Given the description of an element on the screen output the (x, y) to click on. 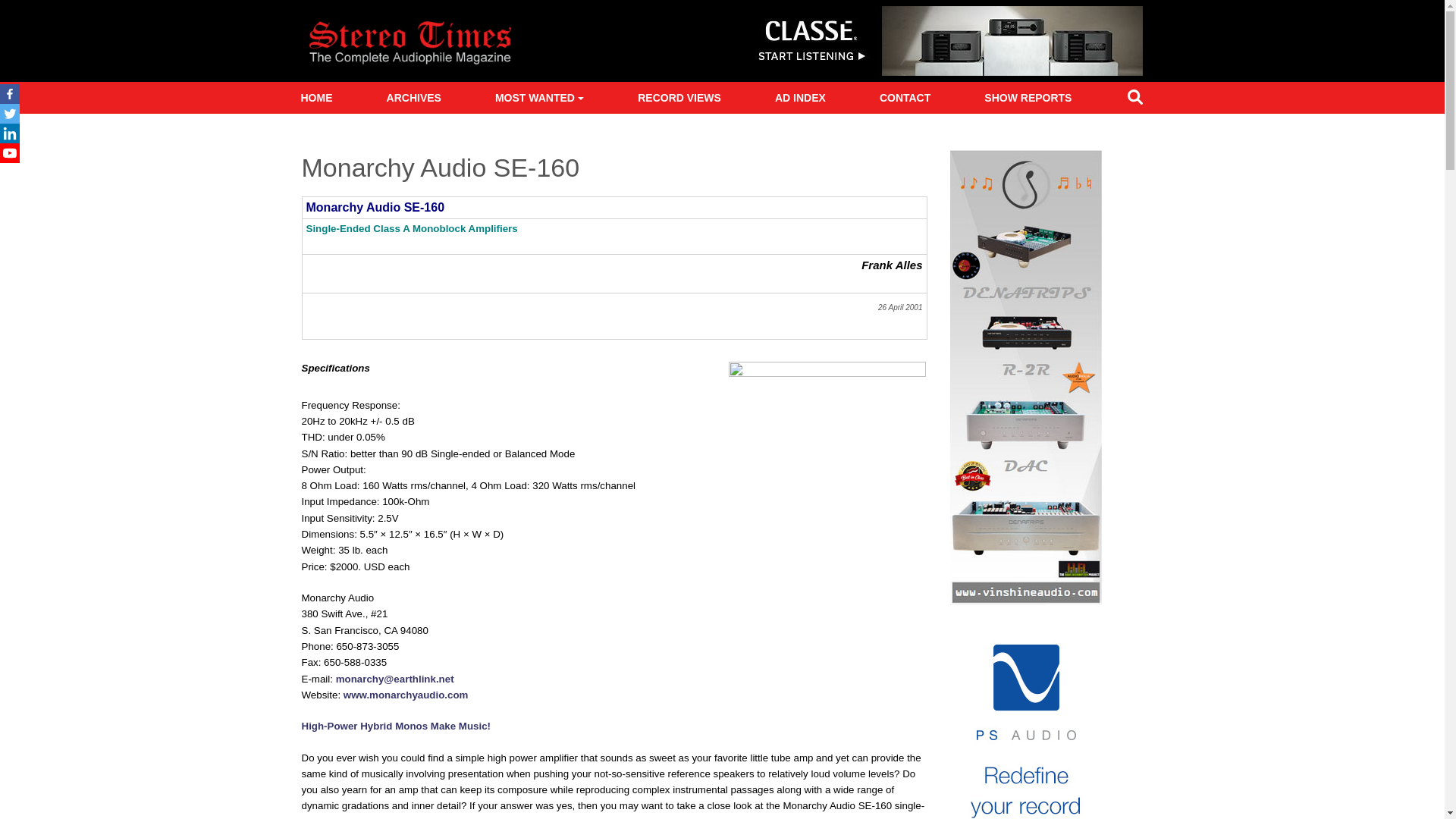
Facebook (10, 94)
Twitter (10, 113)
MOST WANTED (539, 97)
Youtube (10, 152)
RECORD VIEWS (679, 97)
HOME (315, 97)
SHOW REPORTS (1027, 97)
Search (1134, 100)
ARCHIVES (413, 97)
CONTACT (904, 97)
www.monarchyaudio.com (405, 695)
Linkedin (10, 133)
AD INDEX (799, 97)
